Given the description of an element on the screen output the (x, y) to click on. 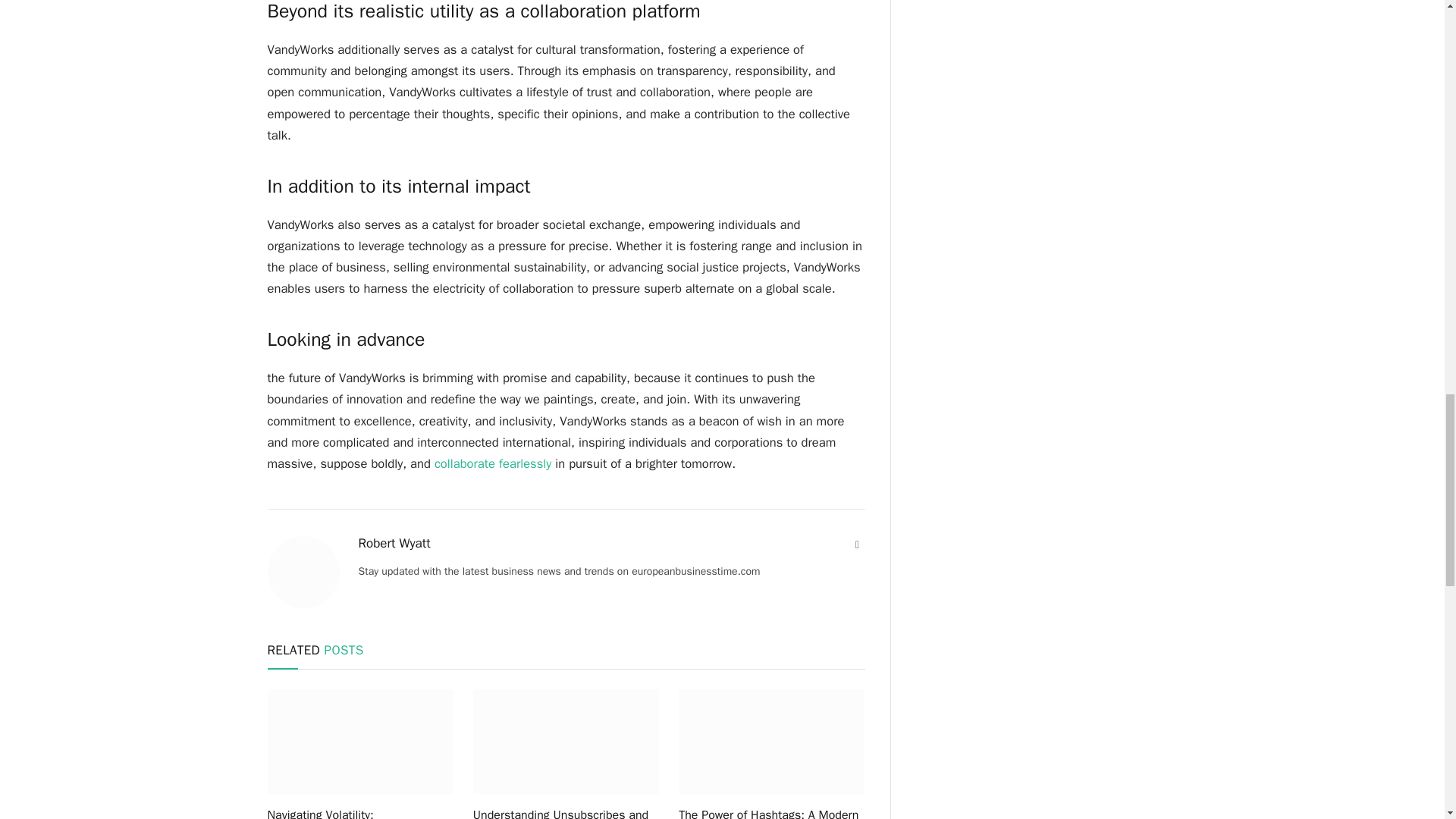
collaborate fearlessly (492, 463)
Posts by Robert Wyatt (393, 543)
Website (856, 544)
Robert Wyatt (393, 543)
Navigating Volatility: Understanding Share Price Movements (359, 812)
Website (856, 544)
